Given the description of an element on the screen output the (x, y) to click on. 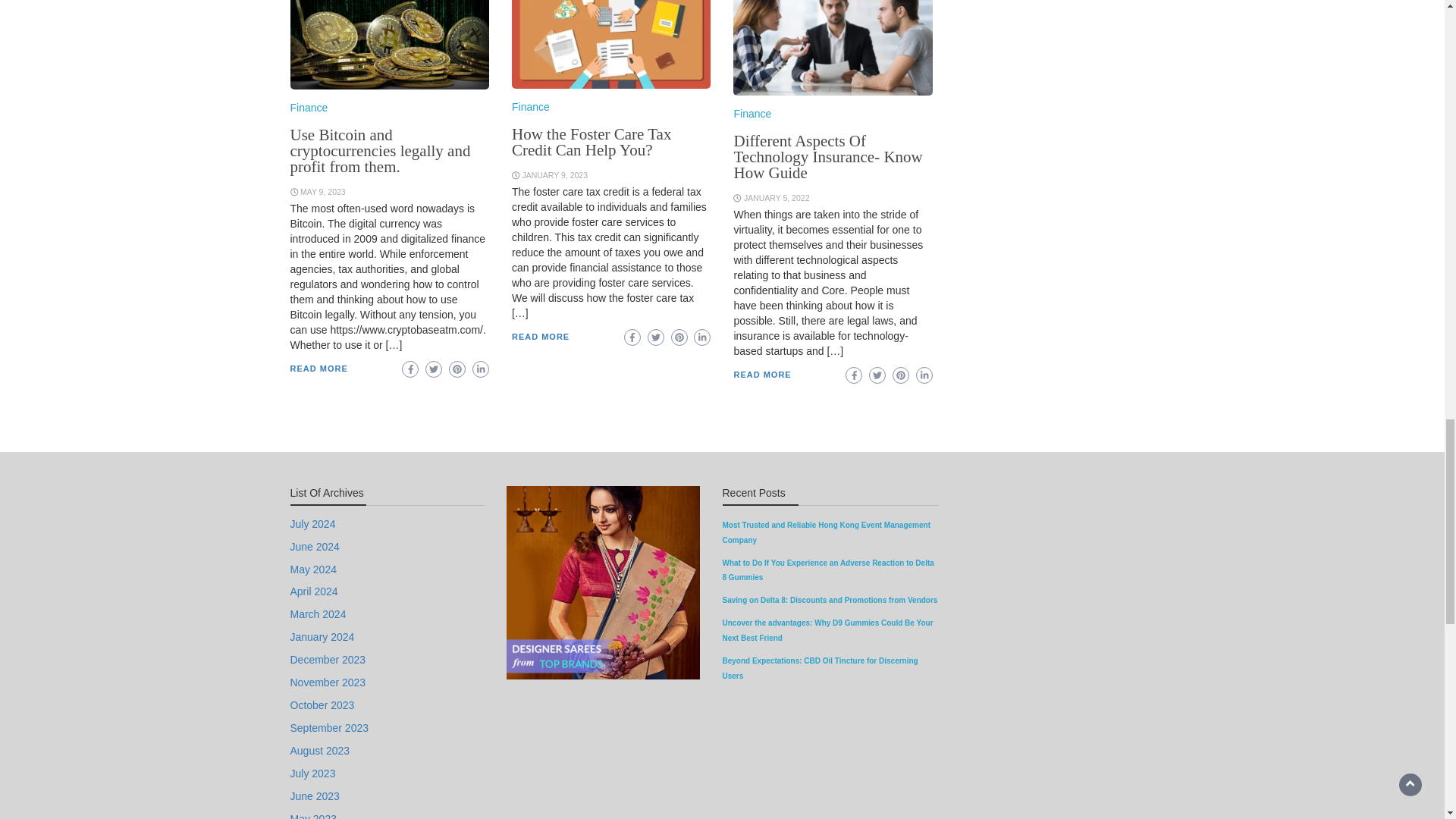
Finance (308, 107)
MAY 9, 2023 (322, 191)
READ MORE (318, 368)
